Given the description of an element on the screen output the (x, y) to click on. 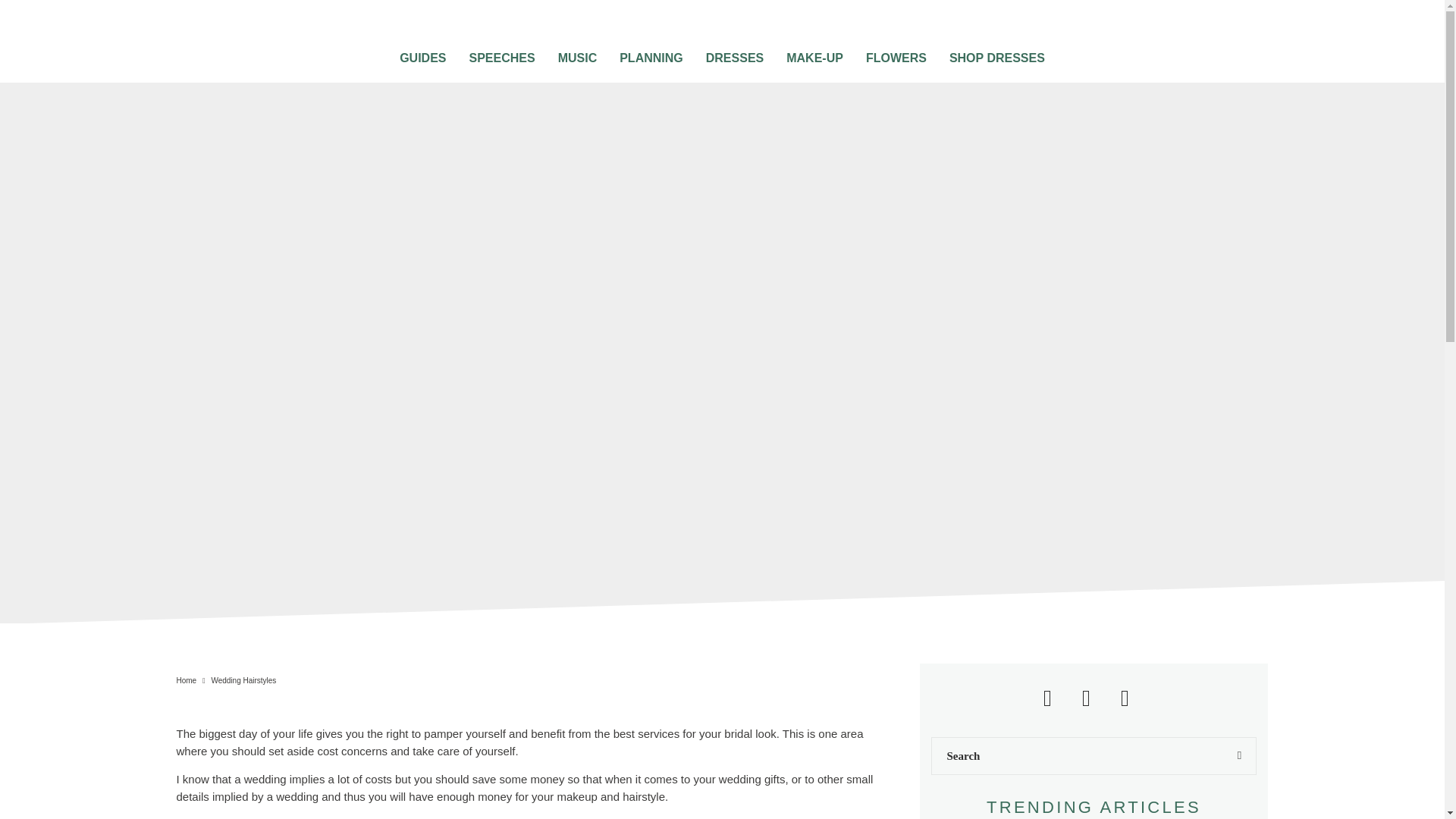
Wedding Planning (651, 52)
PLANNING (651, 52)
GUIDES (422, 52)
DRESSES (734, 52)
MUSIC (577, 52)
SPEECHES (501, 52)
